Given the description of an element on the screen output the (x, y) to click on. 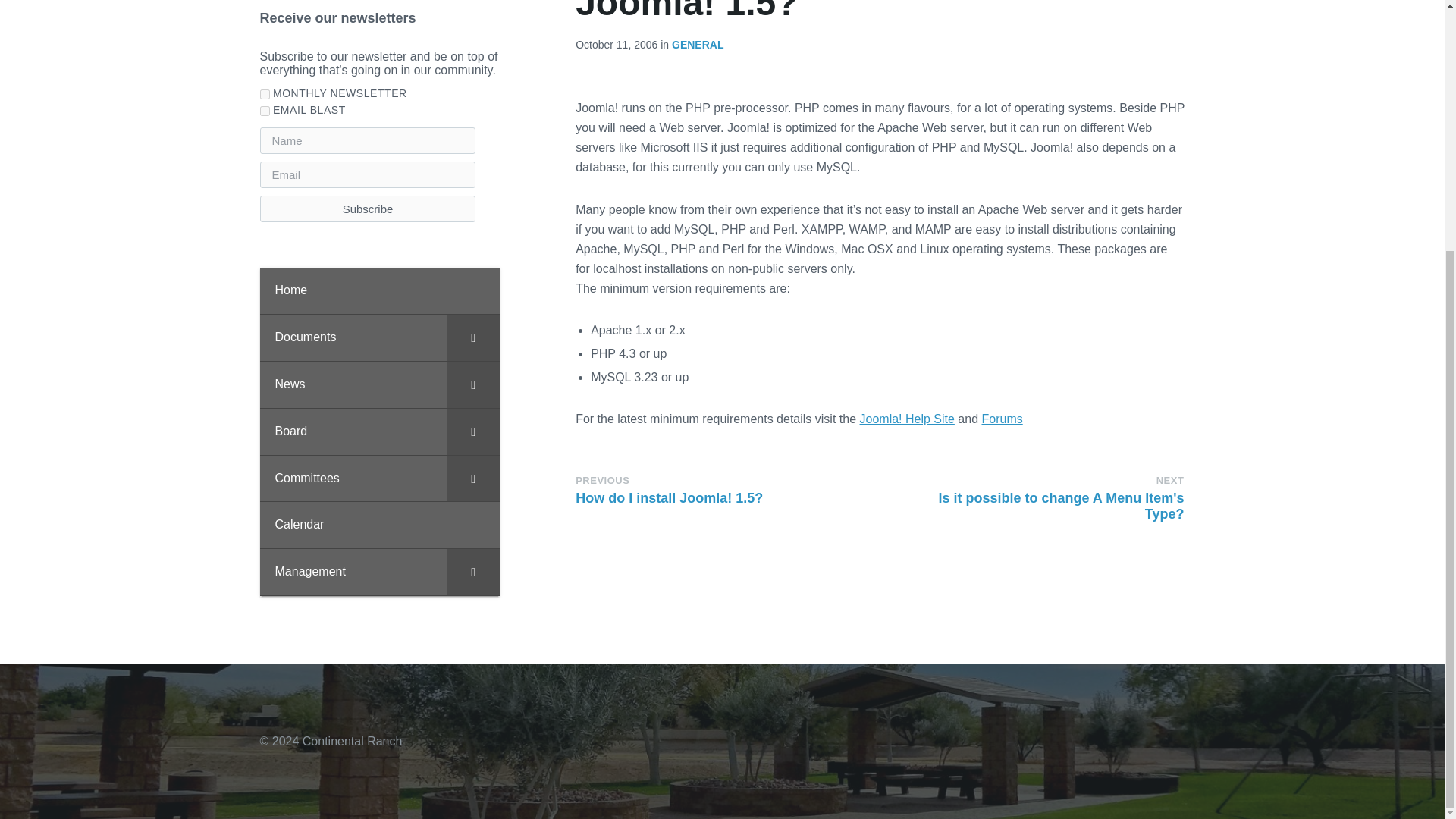
The Joomla! Community Forums (1001, 418)
Subscribe (367, 208)
5 (264, 94)
Joomla! Help Site (907, 418)
6 (264, 111)
